Given the description of an element on the screen output the (x, y) to click on. 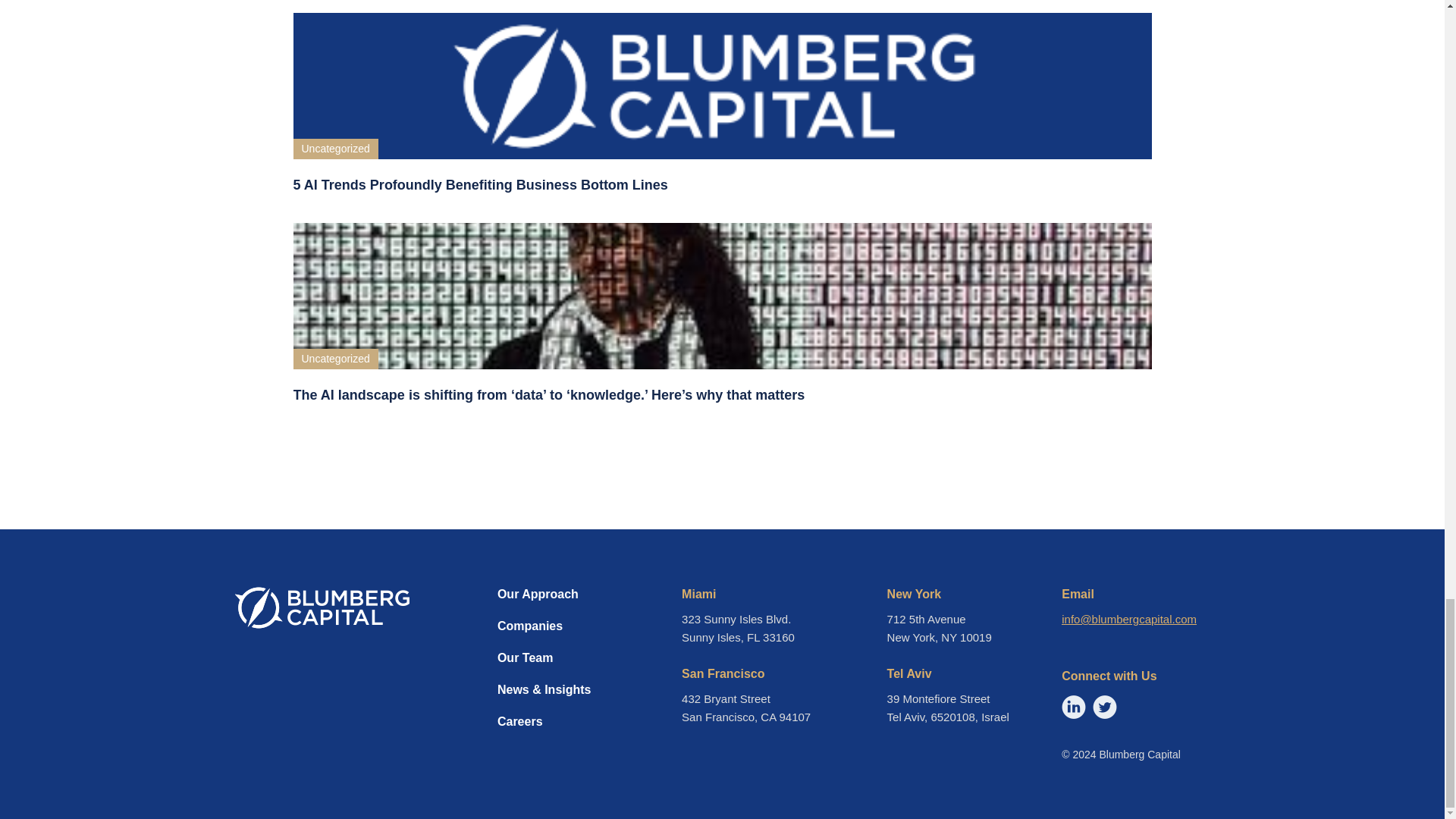
Uncategorized (334, 148)
logo (321, 607)
Our Team (549, 665)
Companies (549, 634)
5 AI Trends Profoundly Benefiting Business Bottom Lines (721, 185)
Careers (549, 729)
Uncategorized (334, 358)
twitter (1104, 707)
Our Approach (549, 602)
linkedin (1073, 707)
5 AI Trends Profoundly Benefiting Business Bottom Lines (721, 185)
